Given the description of an element on the screen output the (x, y) to click on. 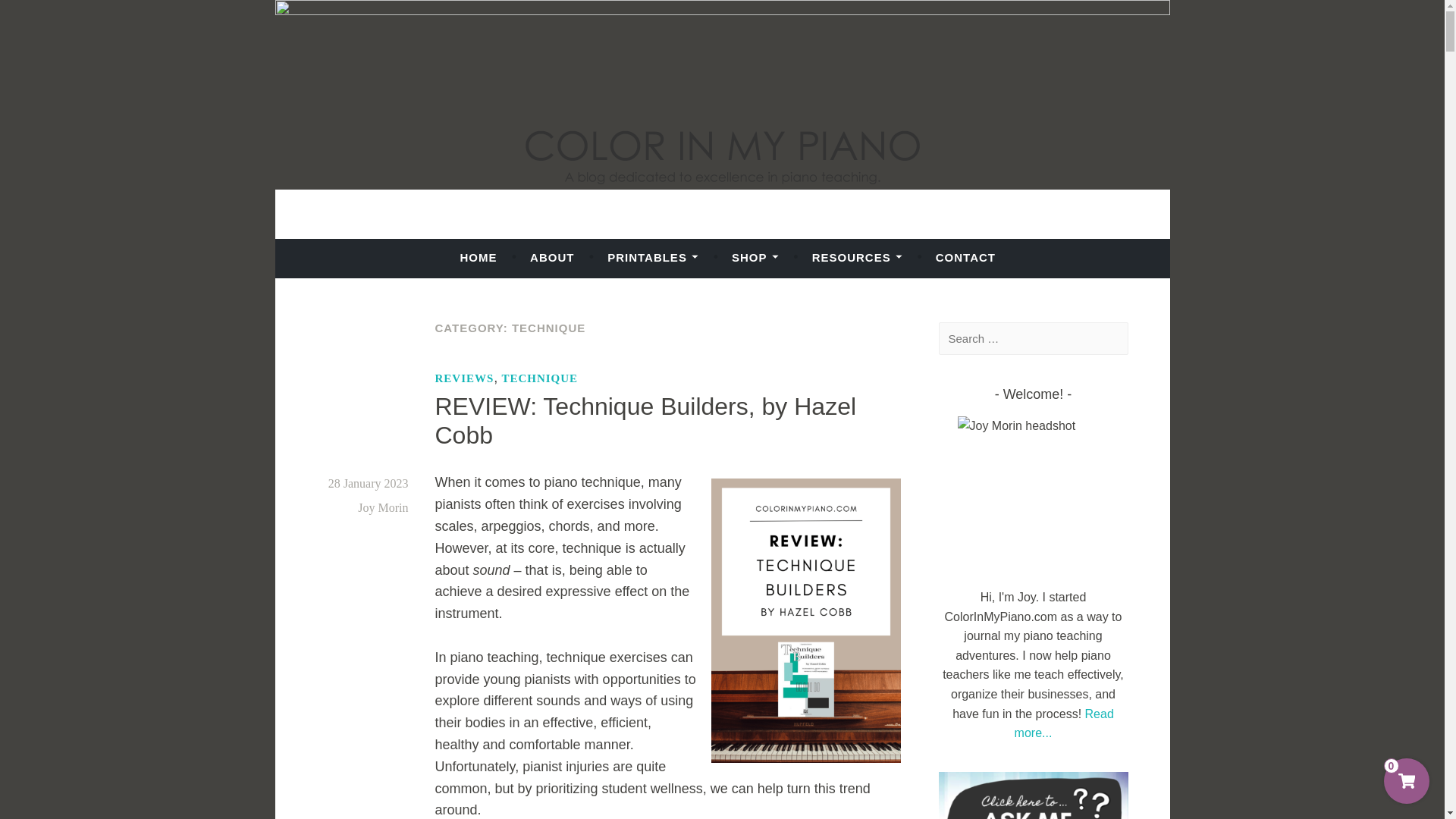
CONTACT (965, 257)
TECHNIQUE (539, 378)
PRINTABLES (652, 257)
Color In My Piano (409, 250)
HOME (478, 257)
REVIEW: Technique Builders, by Hazel Cobb (646, 420)
SHOP (755, 257)
28 January 2023 (369, 482)
ABOUT (551, 257)
REVIEWS (465, 378)
